Given the description of an element on the screen output the (x, y) to click on. 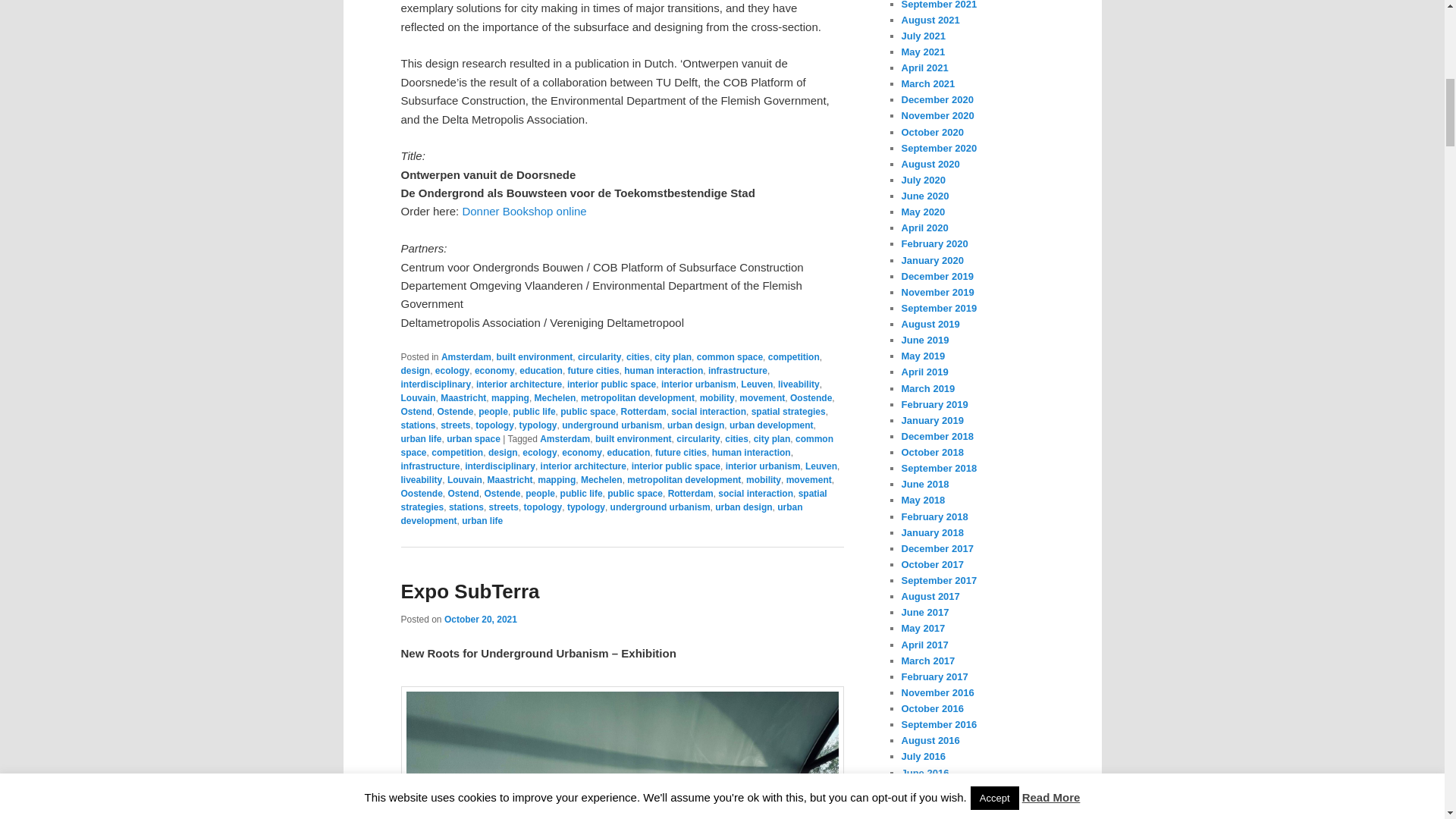
interior architecture (519, 384)
economy (494, 370)
interdisciplinary (435, 384)
education (540, 370)
Amsterdam (466, 357)
09:11 (480, 619)
Mechelen (555, 398)
Leuven (757, 384)
cities (637, 357)
city plan (672, 357)
